Given the description of an element on the screen output the (x, y) to click on. 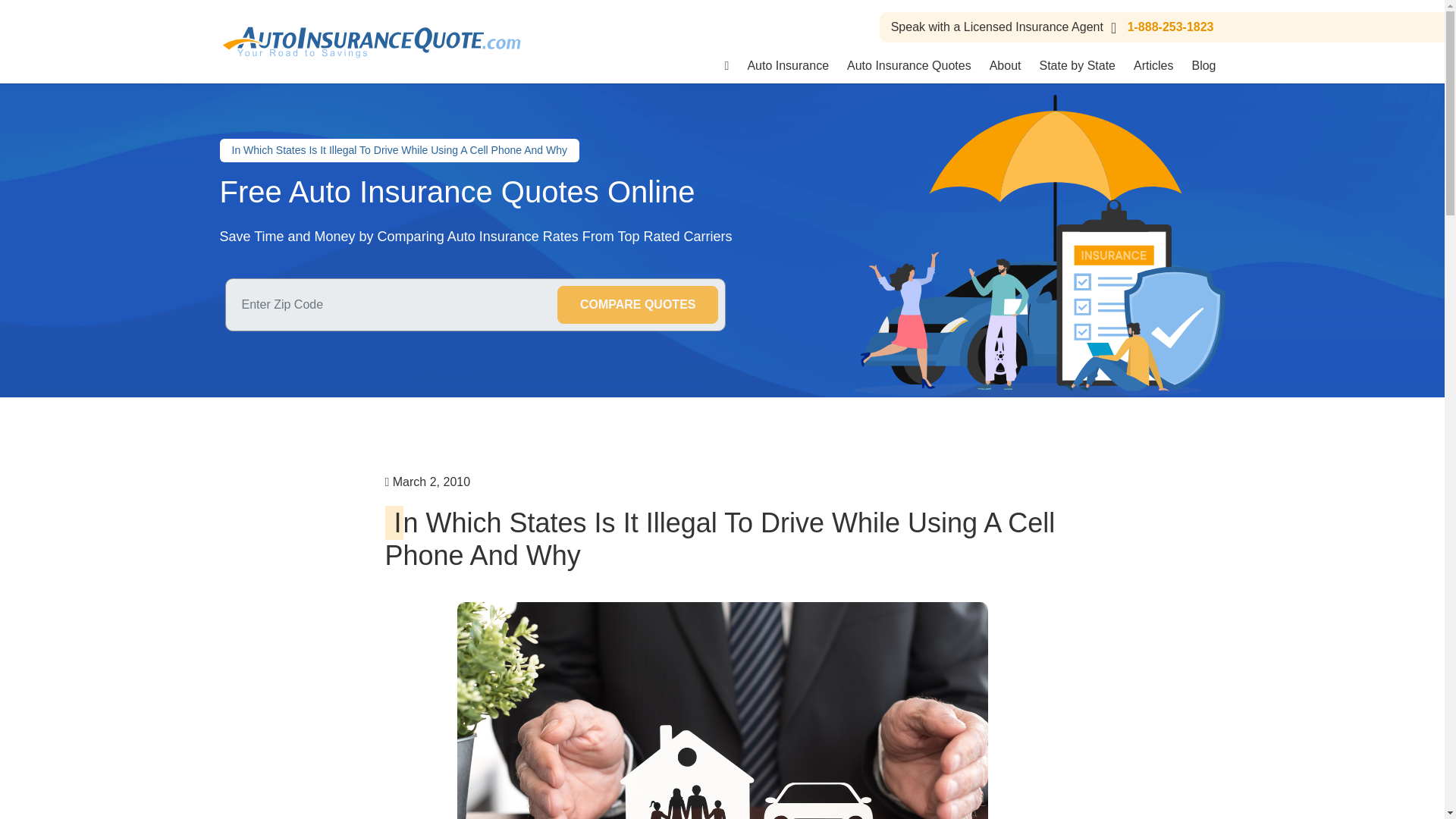
State by State (1076, 65)
Articles (1153, 65)
Blog (1203, 65)
Auto Insurance (788, 65)
About (1004, 65)
COMPARE QUOTES (638, 304)
1-888-253-1823 (1158, 26)
Auto Insurance Quotes (908, 65)
